Given the description of an element on the screen output the (x, y) to click on. 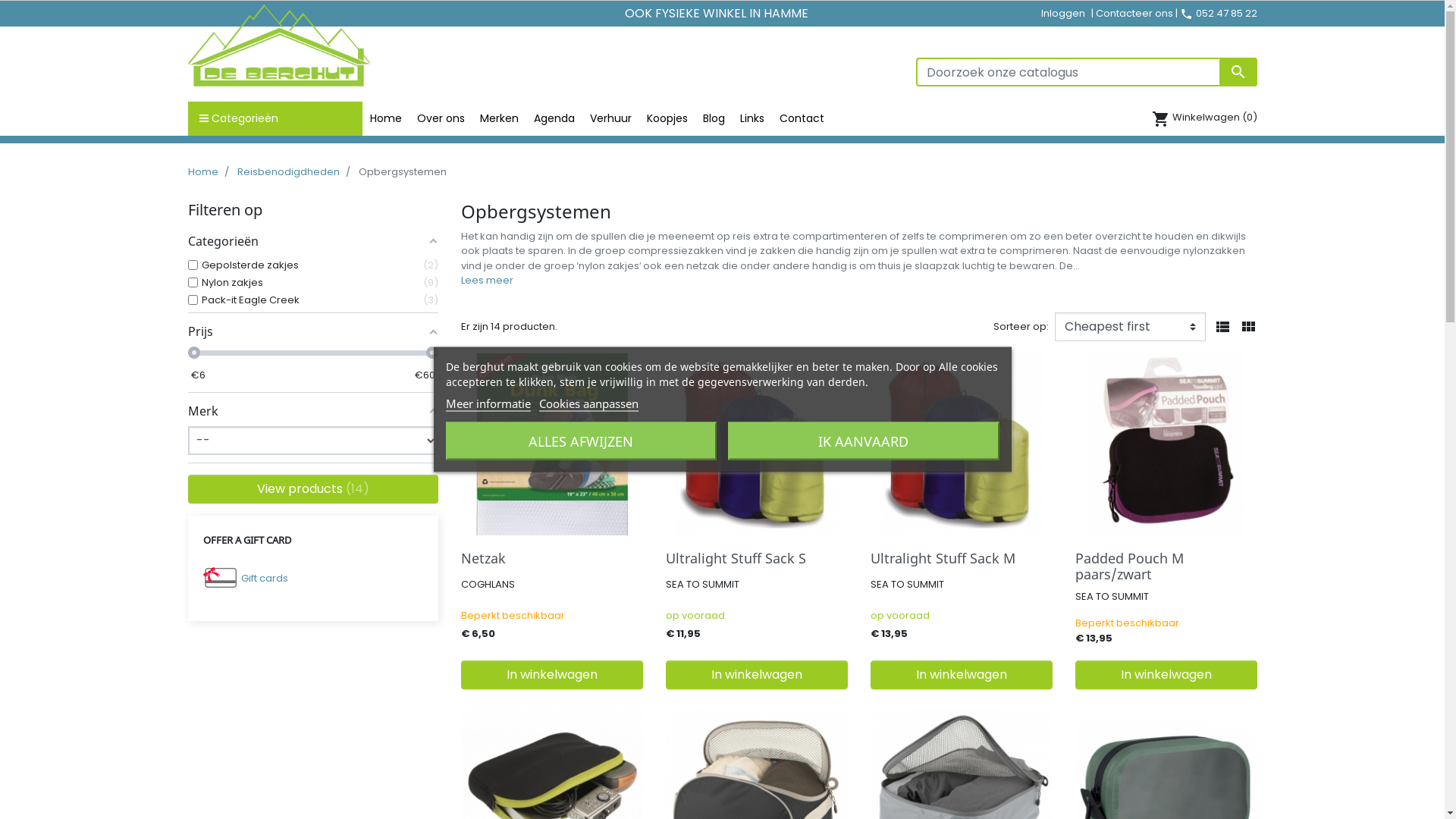
ALLES AFWIJZEN Element type: text (581, 440)
Merken Element type: text (498, 118)
Verhuur Element type: text (610, 118)
OOK FYSIEKE WINKEL IN HAMME Element type: text (716, 13)
Contact Element type: text (801, 118)
In winkelwagen Element type: text (1166, 674)
In winkelwagen Element type: text (756, 674)
Netzak Element type: text (483, 558)
Ultralight Stuff Sack S Element type: text (735, 558)
Gift cards Element type: text (264, 578)
Agenda Element type: text (554, 118)
In winkelwagen Element type: text (552, 674)
Lees meer Element type: text (487, 280)
Blog Element type: text (712, 118)
Over ons Element type: text (440, 118)
Meer informatie Element type: text (487, 403)
Contacteer ons Element type: text (1134, 13)
Home Element type: text (385, 118)
IK AANVAARD Element type: text (863, 440)
Cookies aanpassen Element type: text (587, 403)
Reisbenodigdheden Element type: text (287, 171)
Padded Pouch M paars/zwart Element type: text (1129, 566)
Home Element type: text (203, 171)
Koopjes Element type: text (666, 118)
In winkelwagen Element type: text (961, 674)
Ultralight Stuff Sack M Element type: text (942, 558)
Inloggen Element type: text (1063, 13)
View products 14 Element type: text (313, 488)
Links Element type: text (751, 118)
